Given the description of an element on the screen output the (x, y) to click on. 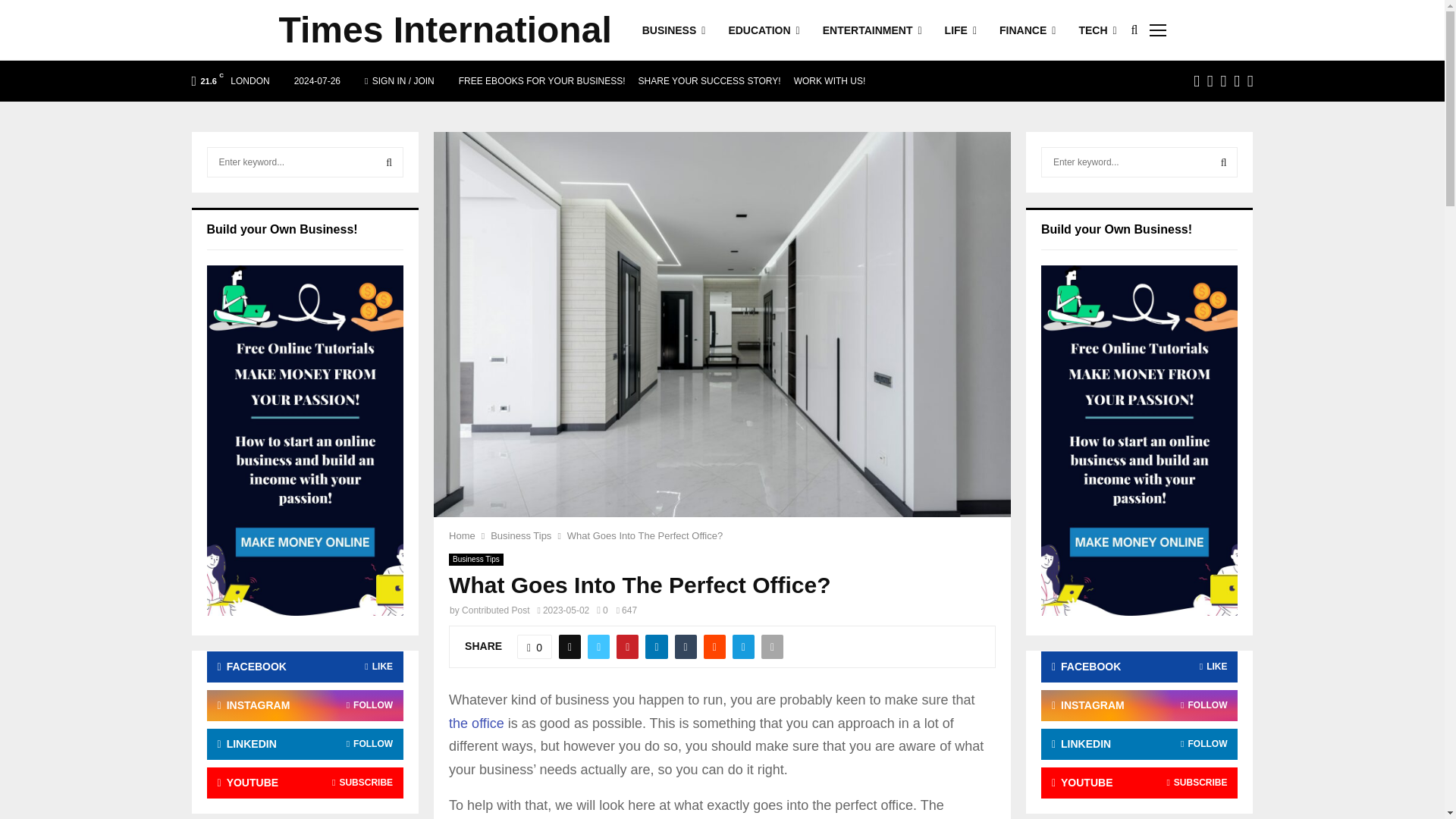
BUSINESS (674, 30)
EDUCATION (763, 30)
Times International (445, 30)
